Given the description of an element on the screen output the (x, y) to click on. 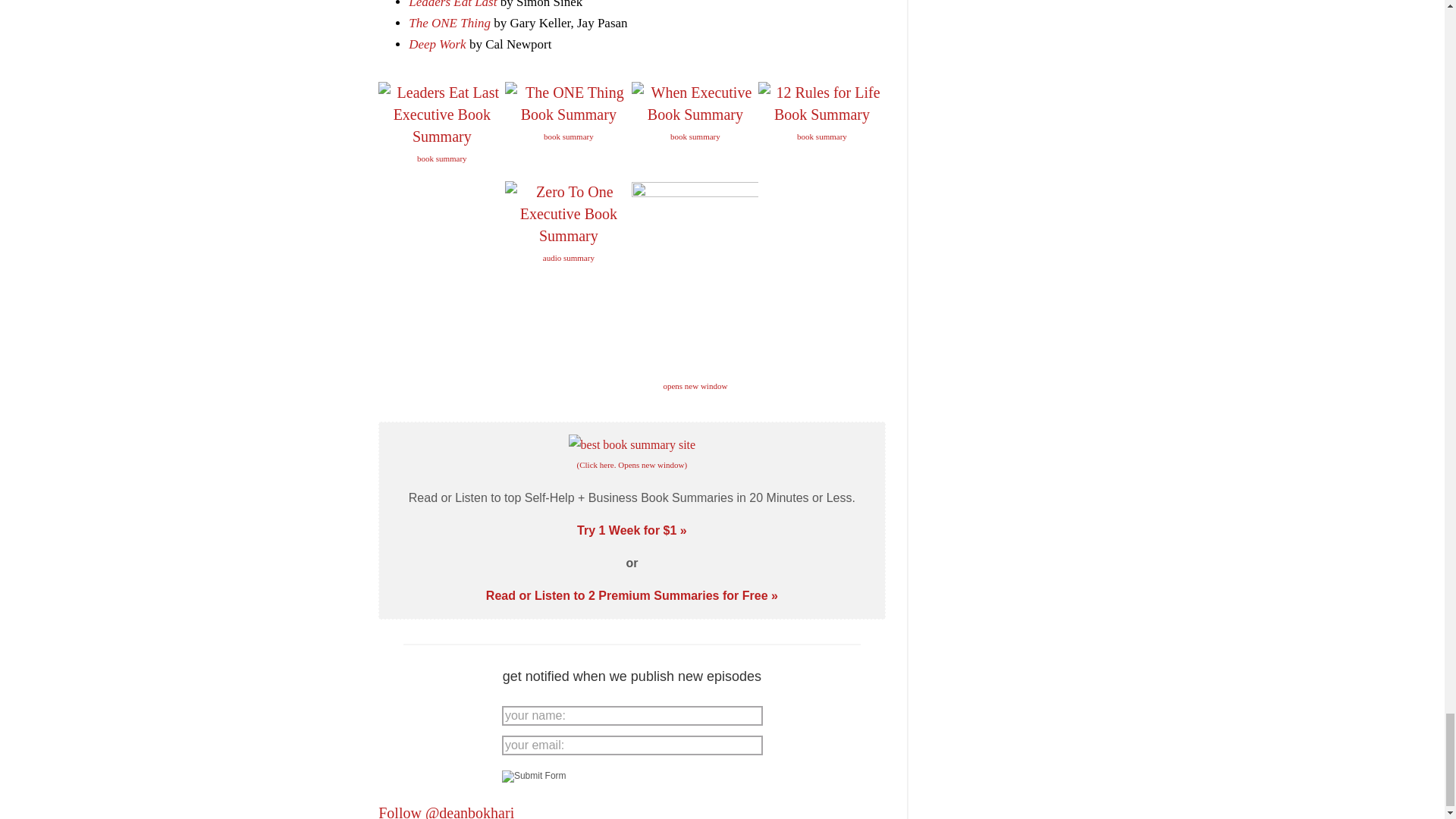
Go to The ONE Thing by Gary Keller : Book Summary (568, 127)
The ONE Thing Book Summary (568, 103)
your name: (632, 715)
Go to Leaders Eat Last by Simon Sinek : Book Summary (441, 148)
your email: (632, 745)
Leaders Eat Last Executive Book Summary (441, 114)
